Given the description of an element on the screen output the (x, y) to click on. 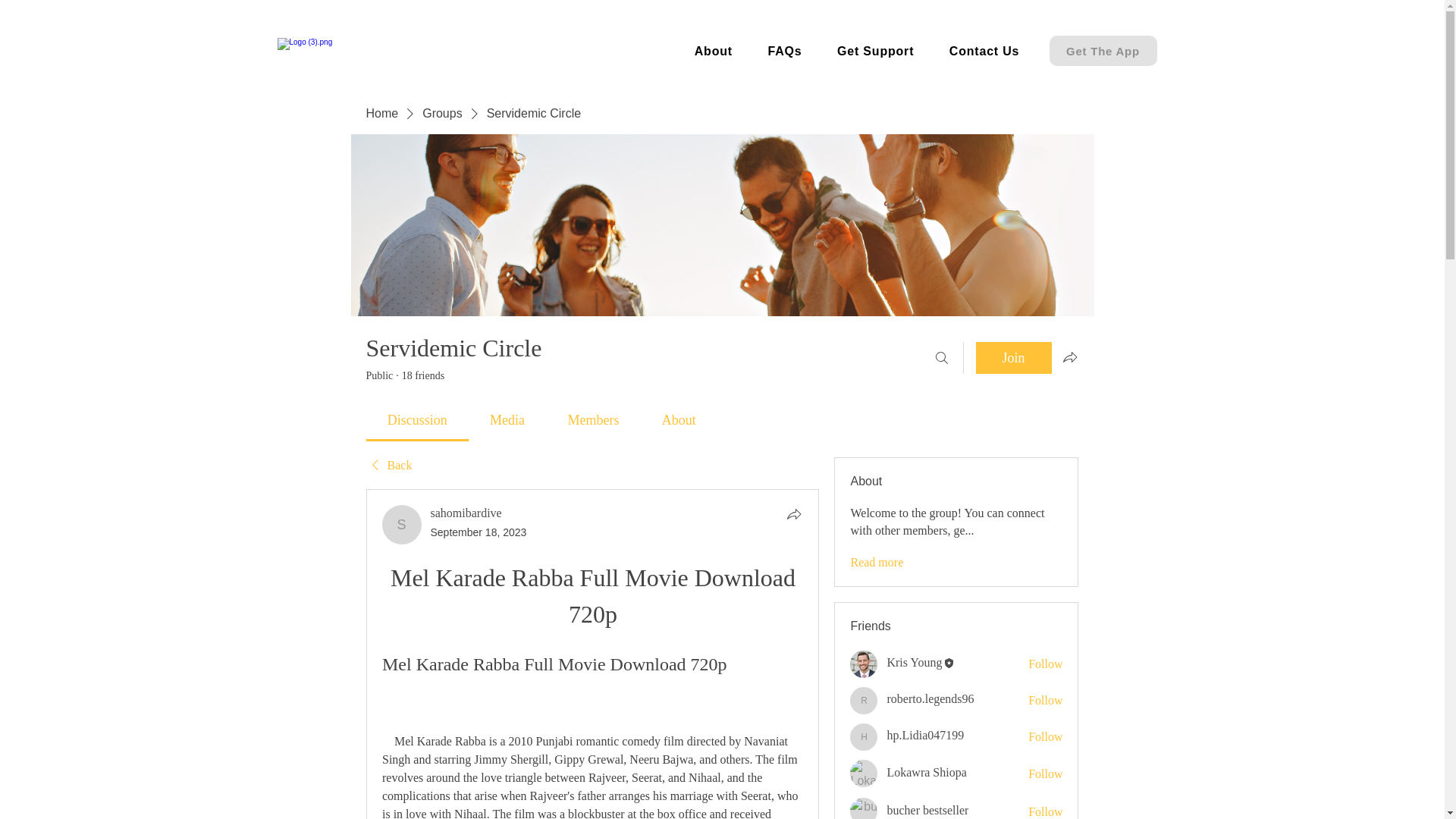
Join (1013, 357)
Follow (1044, 736)
Follow (1044, 773)
Follow (1044, 664)
Follow (1044, 811)
About (712, 51)
September 18, 2023 (478, 532)
Groups (441, 113)
Contact Us (983, 51)
Read more (876, 562)
Get The App (1103, 51)
hp.Lidia047199 (924, 735)
sahomibardive (401, 524)
Kris Young (863, 664)
Back (388, 465)
